Given the description of an element on the screen output the (x, y) to click on. 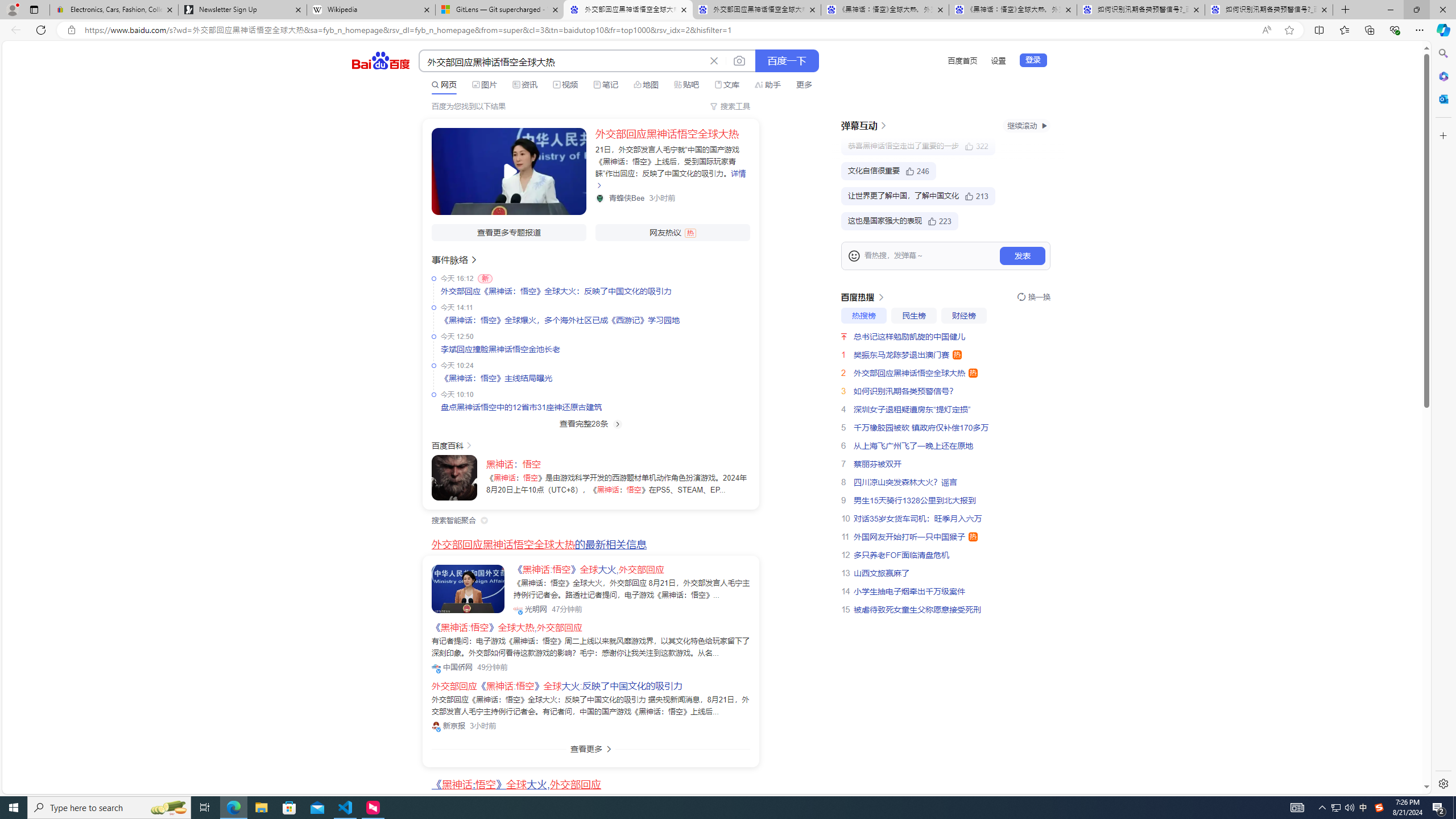
AutomationID: kw (562, 61)
